Given the description of an element on the screen output the (x, y) to click on. 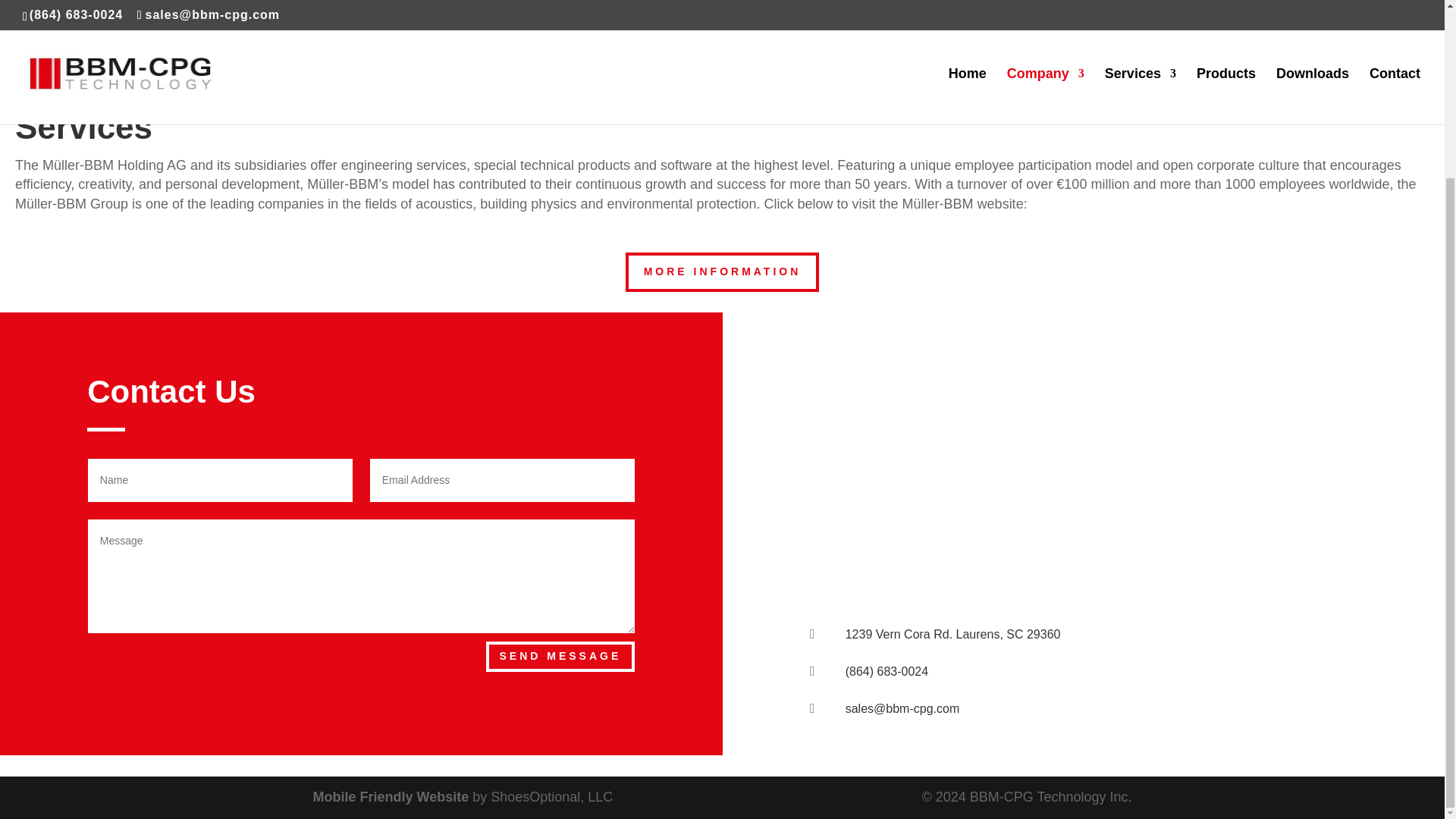
SEND MESSAGE (559, 656)
Mobile Friendly Website (390, 796)
MORE INFORMATION (722, 271)
